Given the description of an element on the screen output the (x, y) to click on. 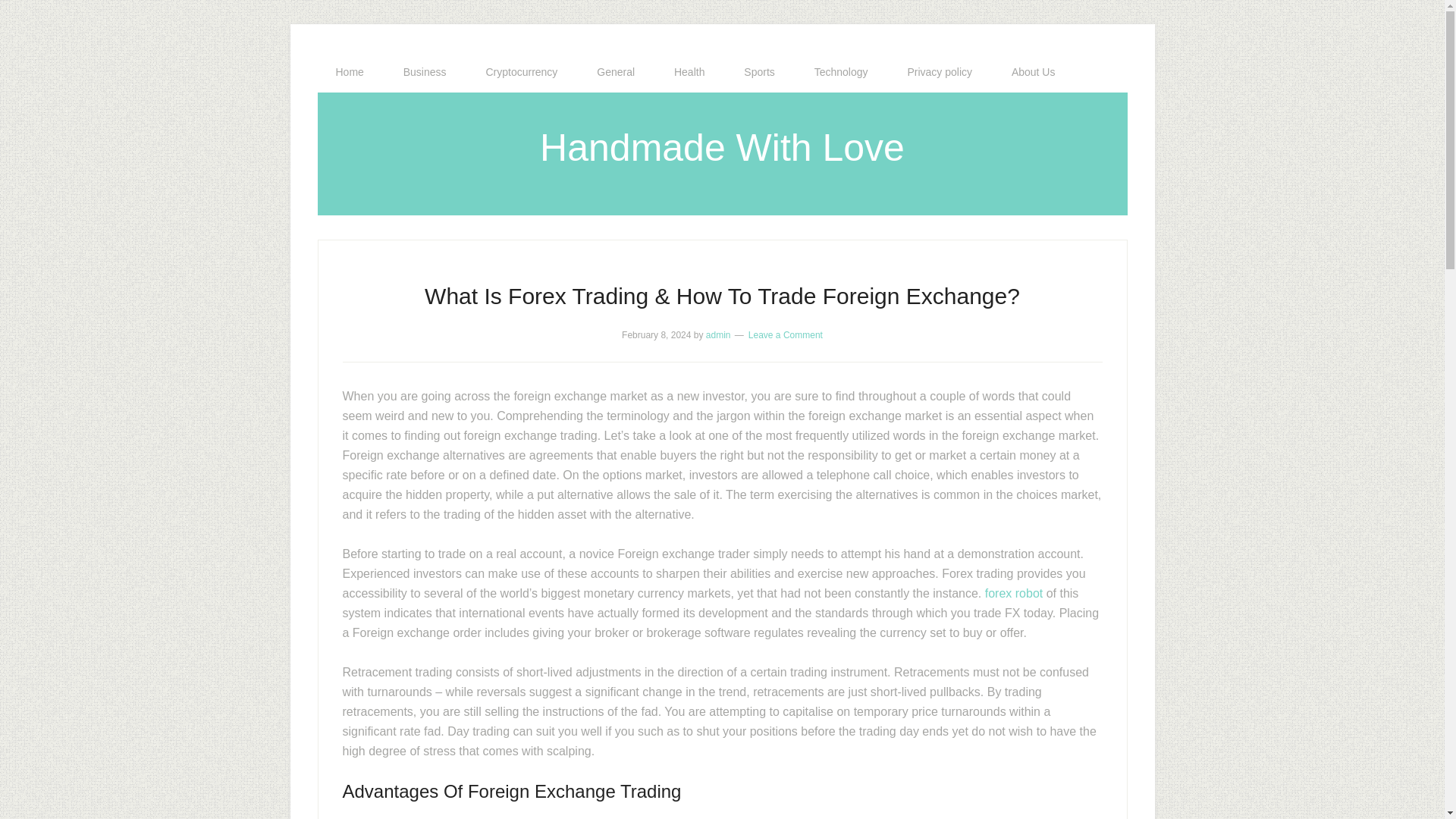
Home (349, 71)
Leave a Comment (785, 335)
Technology (841, 71)
Cryptocurrency (521, 71)
admin (718, 335)
Health (689, 71)
Handmade With Love (722, 147)
About Us (1033, 71)
Business (424, 71)
forex robot (1013, 593)
